Given the description of an element on the screen output the (x, y) to click on. 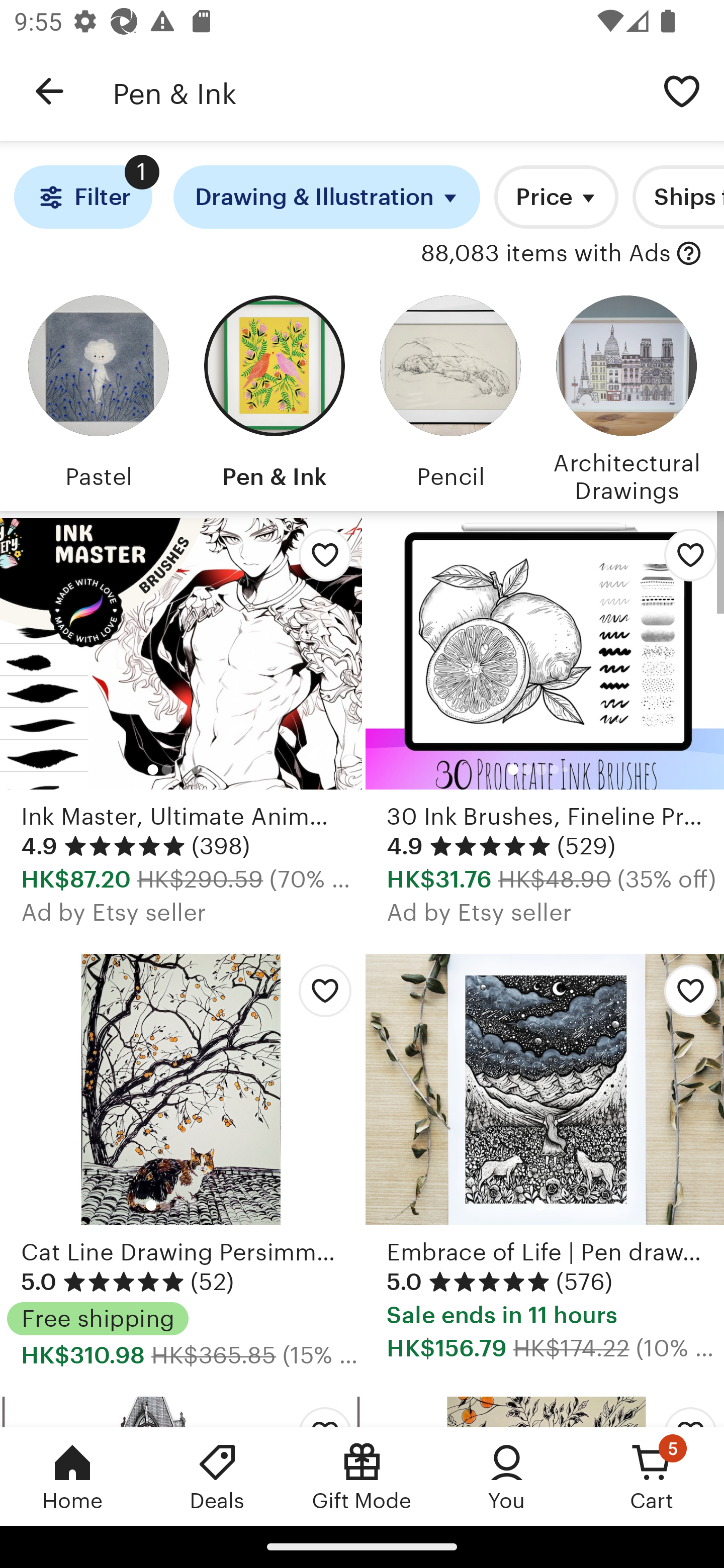
Navigate up (49, 91)
Save search (681, 90)
Pen & Ink (375, 91)
Filter (82, 197)
Drawing & Illustration (326, 197)
Price (556, 197)
88,083 items with Ads (545, 253)
with Ads (688, 253)
Pastel (97, 395)
Pen & Ink (273, 395)
Pencil (449, 395)
Architectural Drawings (625, 395)
Deals (216, 1475)
Gift Mode (361, 1475)
You (506, 1475)
Cart, 5 new notifications Cart (651, 1475)
